Given the description of an element on the screen output the (x, y) to click on. 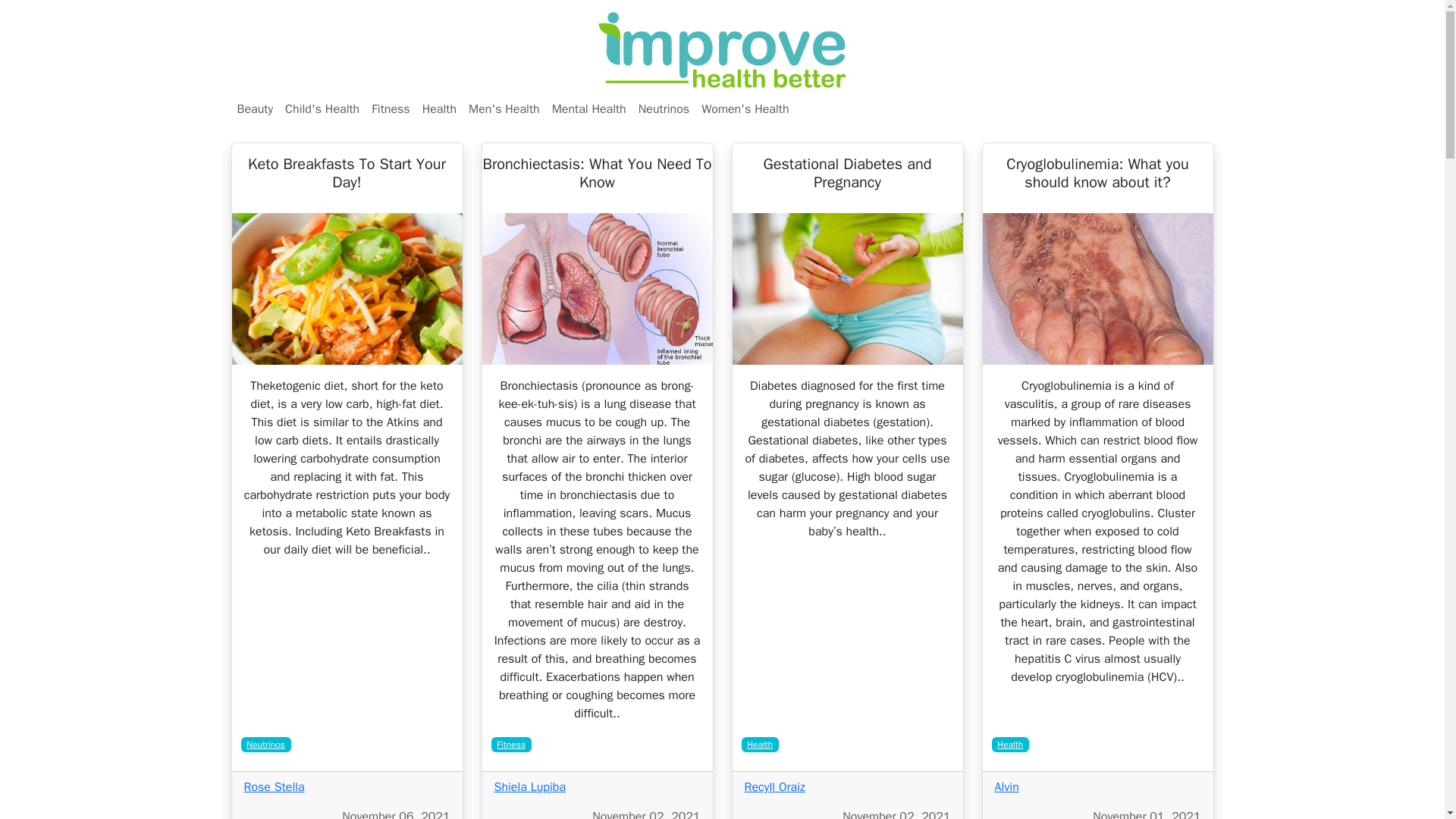
Neutrinos (663, 109)
Rose Stella (274, 786)
Child's Health (322, 109)
Fitness (510, 744)
Health (1010, 744)
Neutrinos (265, 744)
Health (759, 744)
Alvin (1006, 786)
Fitness (389, 109)
Mental Health (588, 109)
